Given the description of an element on the screen output the (x, y) to click on. 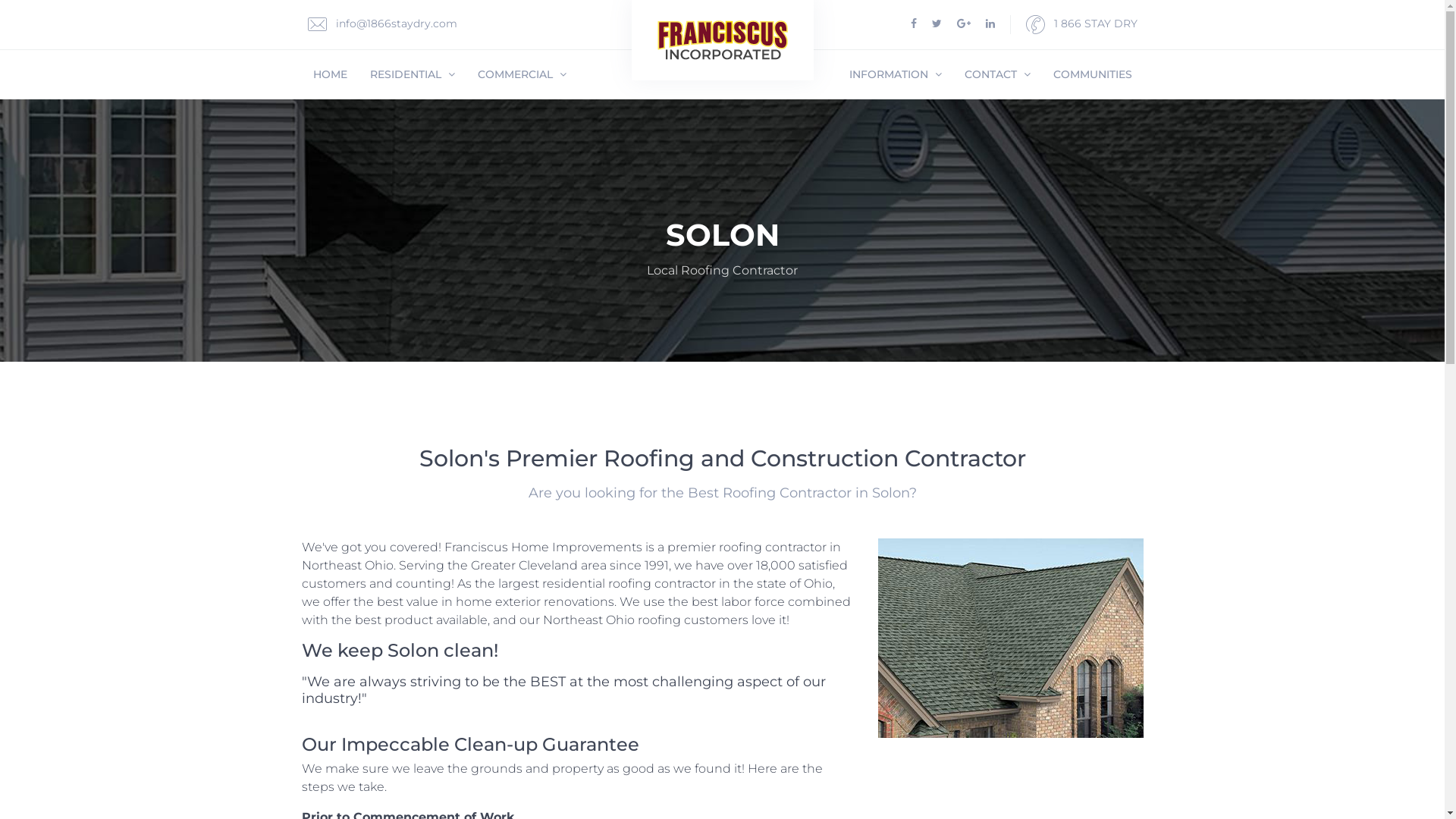
CONTACT Element type: text (996, 74)
HOME Element type: text (329, 74)
INFORMATION Element type: text (894, 74)
COMMERCIAL Element type: text (521, 74)
COMMUNITIES Element type: text (1092, 74)
RESIDENTIAL Element type: text (411, 74)
1 866 STAY DRY Element type: text (1080, 24)
info@1866staydry.com Element type: text (382, 24)
